Given the description of an element on the screen output the (x, y) to click on. 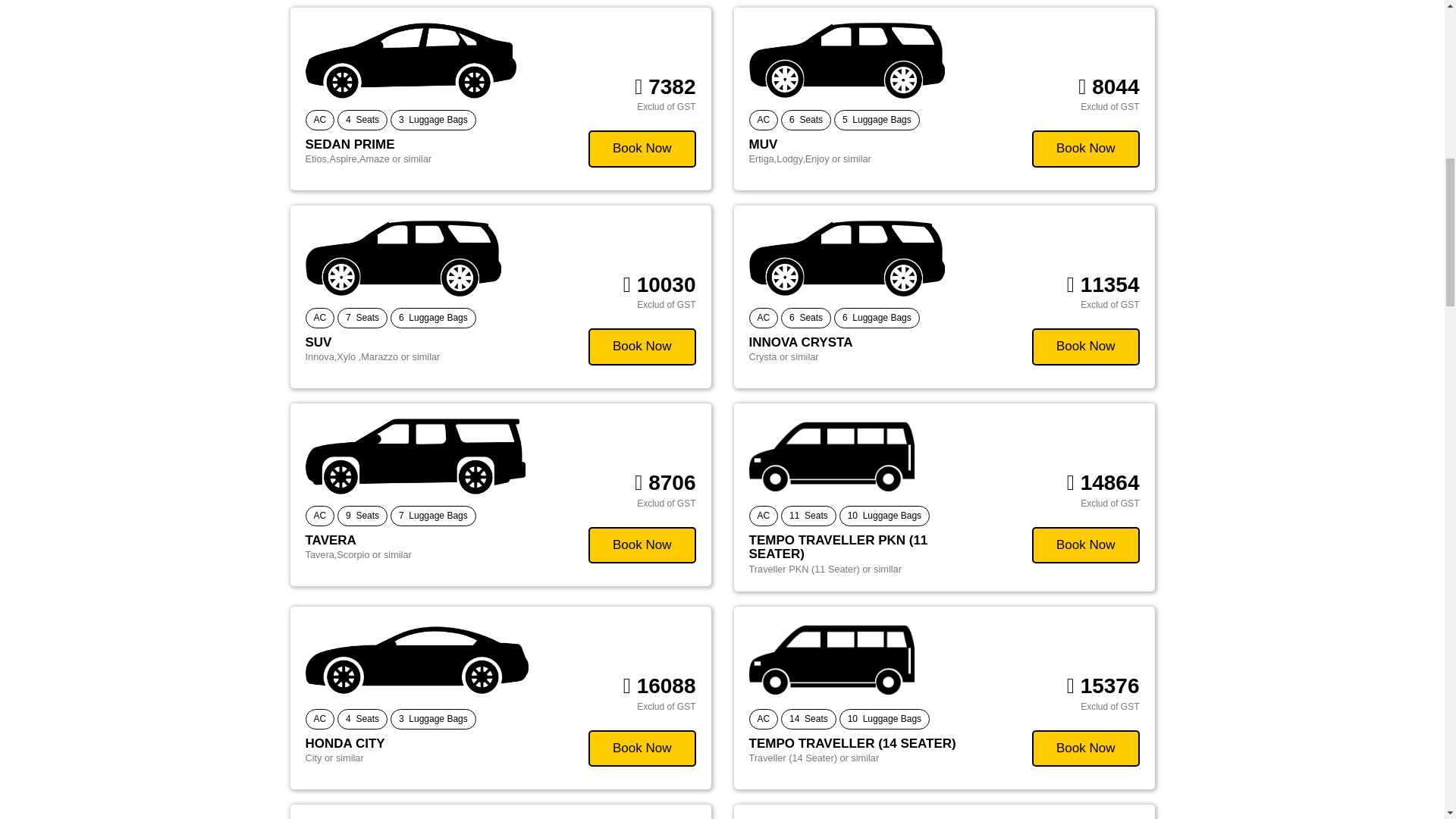
AC (319, 317)
Book Now (1085, 148)
AC (319, 119)
4  Seats (362, 119)
3  Luggage Bags (433, 119)
6  Luggage Bags (433, 317)
AC (763, 119)
6  Seats (805, 119)
Book Now (641, 148)
7  Seats (362, 317)
5  Luggage Bags (877, 119)
